Given the description of an element on the screen output the (x, y) to click on. 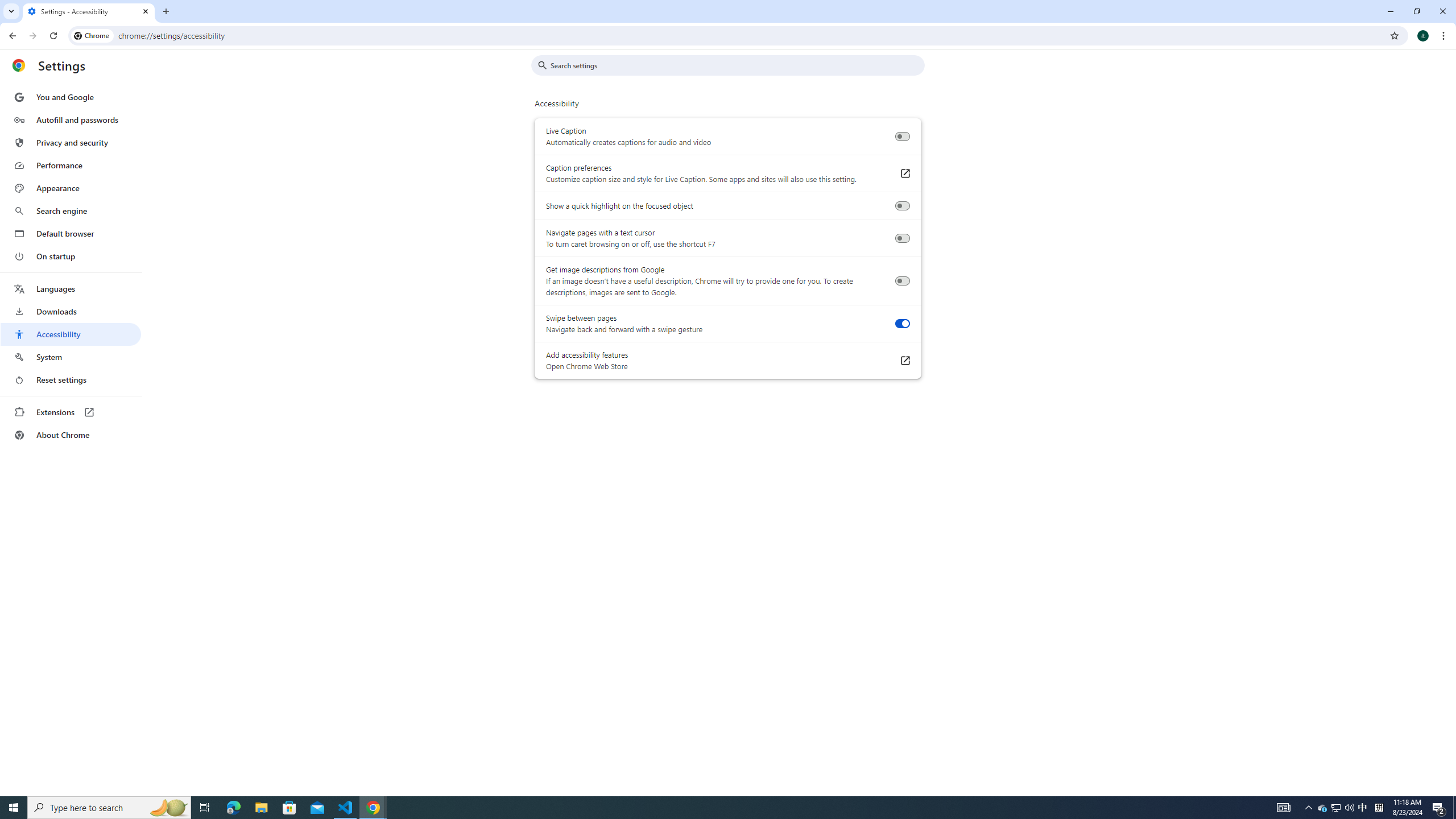
Reset settings (70, 379)
Extensions (70, 412)
Get image descriptions from Google (901, 280)
Search engine (70, 210)
Appearance (70, 187)
Settings - Accessibility (88, 11)
Autofill and passwords (70, 119)
Accessibility (70, 333)
